Given the description of an element on the screen output the (x, y) to click on. 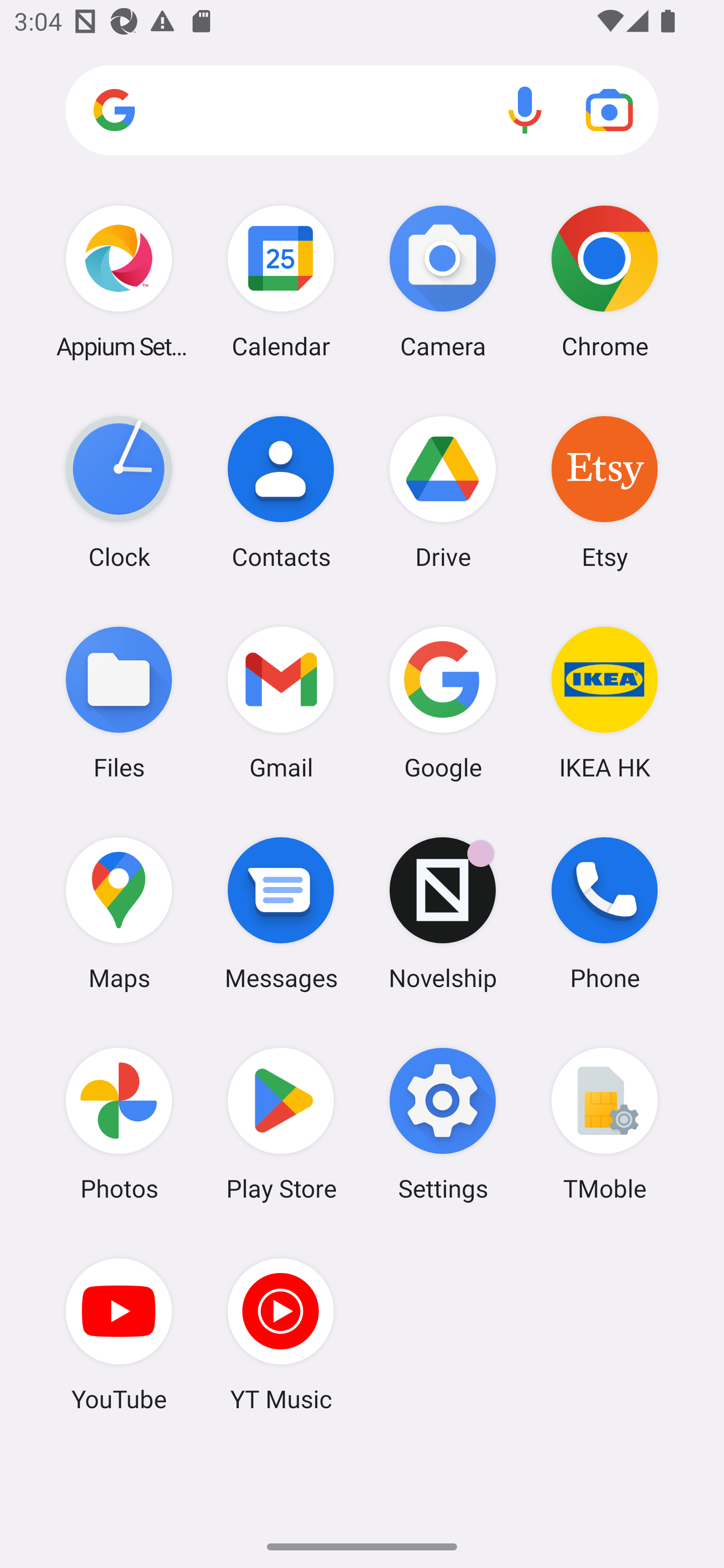
Search apps, web and more (361, 110)
Voice search (524, 109)
Google Lens (608, 109)
Appium Settings (118, 281)
Calendar (280, 281)
Camera (443, 281)
Chrome (604, 281)
Clock (118, 492)
Contacts (280, 492)
Drive (443, 492)
Etsy (604, 492)
Files (118, 702)
Gmail (280, 702)
Google (443, 702)
IKEA HK (604, 702)
Maps (118, 913)
Messages (280, 913)
Novelship Novelship has 5 notifications (443, 913)
Phone (604, 913)
Photos (118, 1124)
Play Store (280, 1124)
Settings (443, 1124)
TMoble (604, 1124)
YouTube (118, 1334)
YT Music (280, 1334)
